Given the description of an element on the screen output the (x, y) to click on. 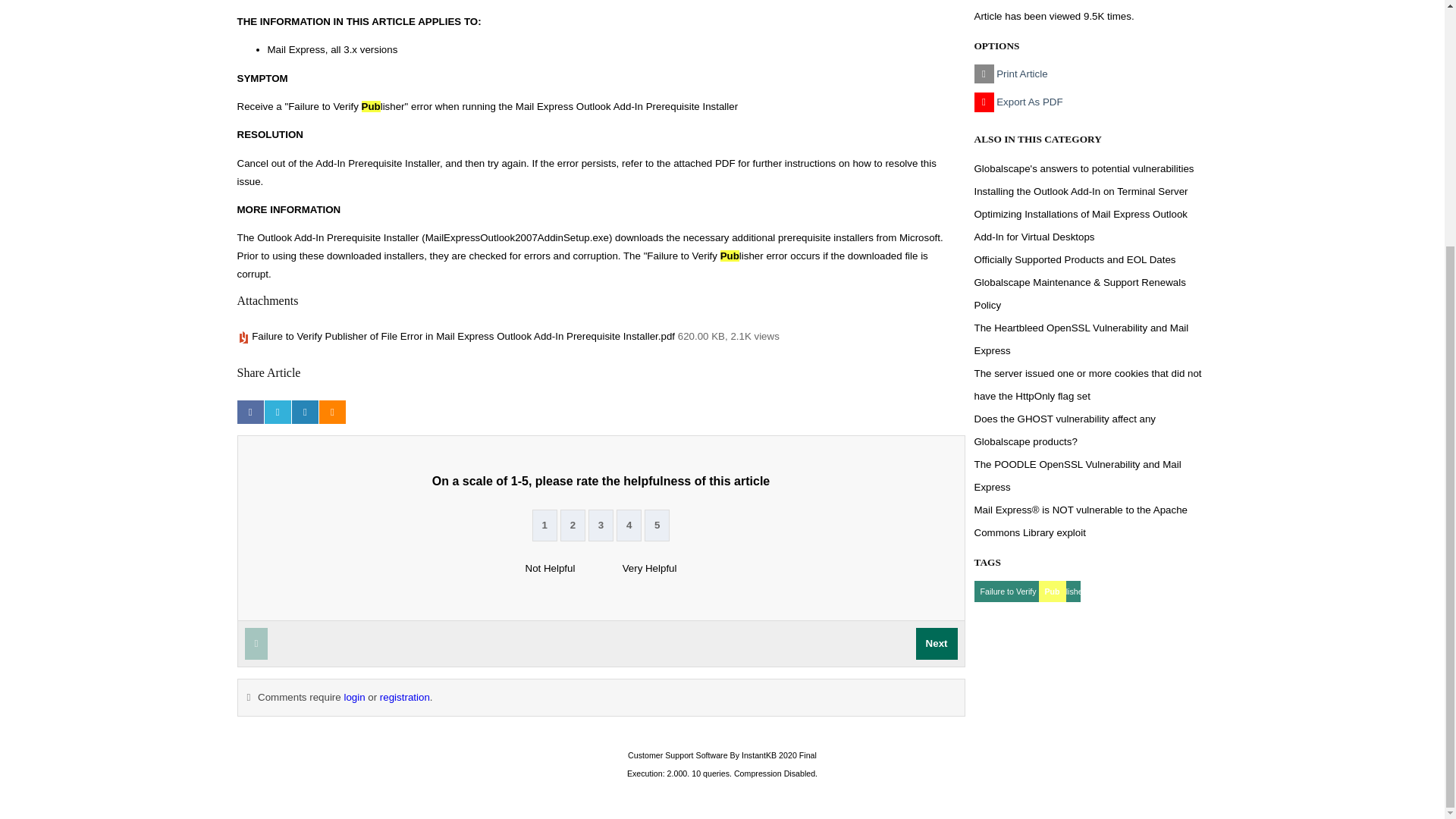
Share On Facebook (249, 412)
Share On Twitter (277, 412)
